Given the description of an element on the screen output the (x, y) to click on. 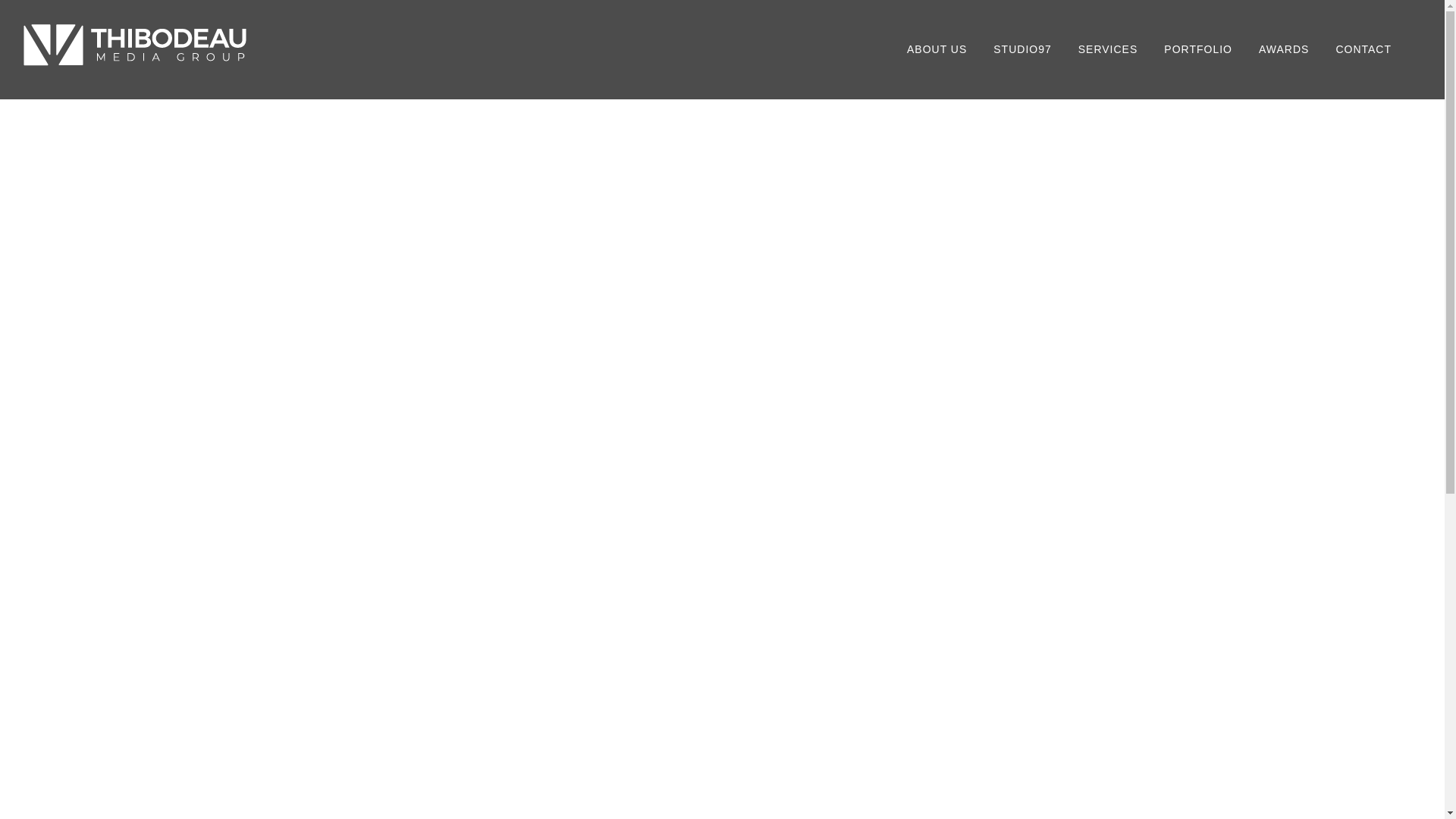
Contact (1363, 49)
Portfolio (1198, 49)
SERVICES (1107, 49)
AWARDS (1283, 49)
Services (1107, 49)
ABOUT US (936, 49)
STUDIO97 (1021, 49)
CONTACT (1363, 49)
About Us (936, 49)
